Given the description of an element on the screen output the (x, y) to click on. 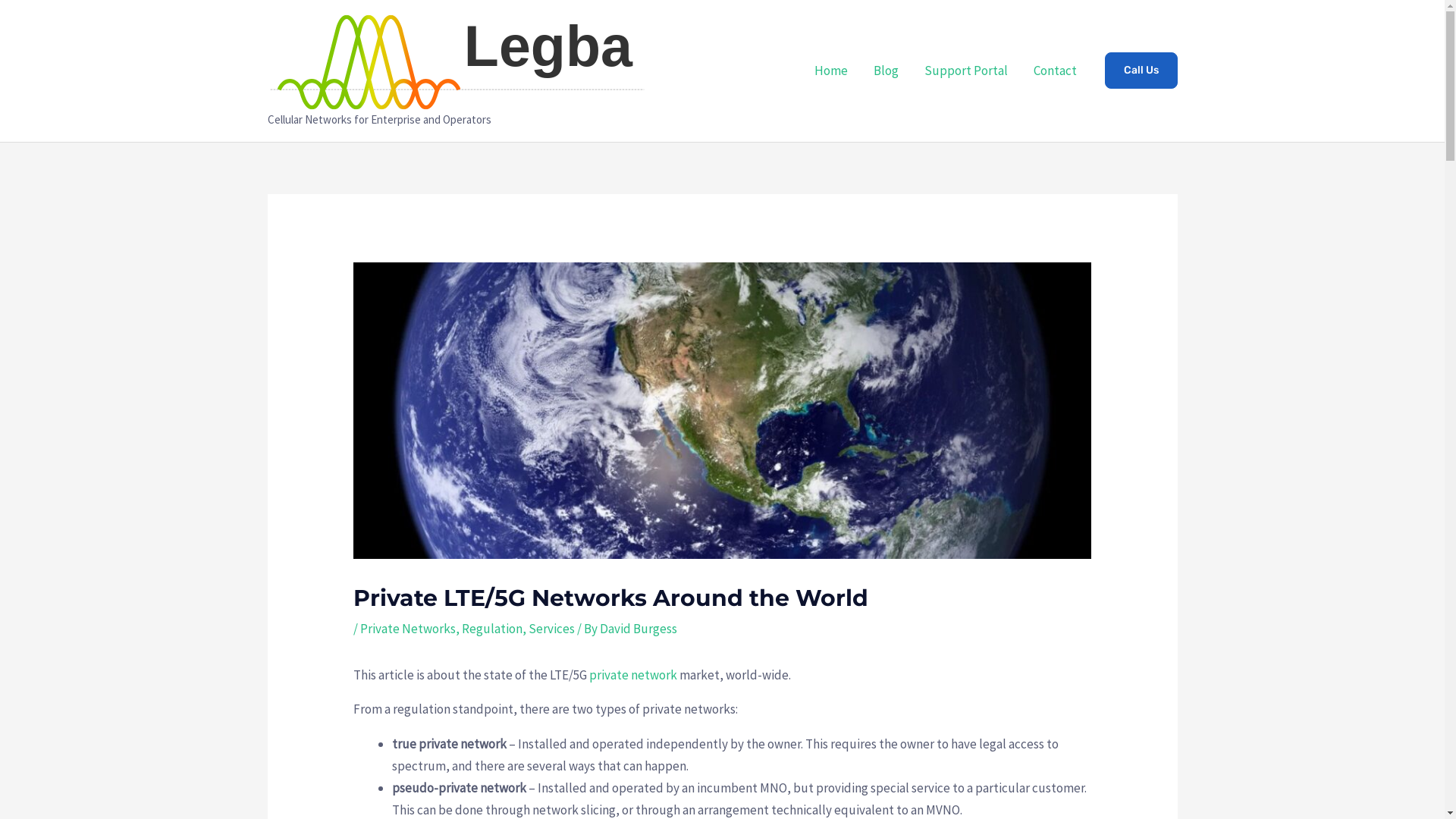
Home Element type: text (829, 70)
Support Portal Element type: text (965, 70)
Private Networks Element type: text (407, 628)
Call Us Element type: text (1140, 70)
Regulation Element type: text (491, 628)
David Burgess Element type: text (638, 628)
private network Element type: text (633, 674)
Services Element type: text (551, 628)
Contact Element type: text (1054, 70)
Blog Element type: text (884, 70)
